Given the description of an element on the screen output the (x, y) to click on. 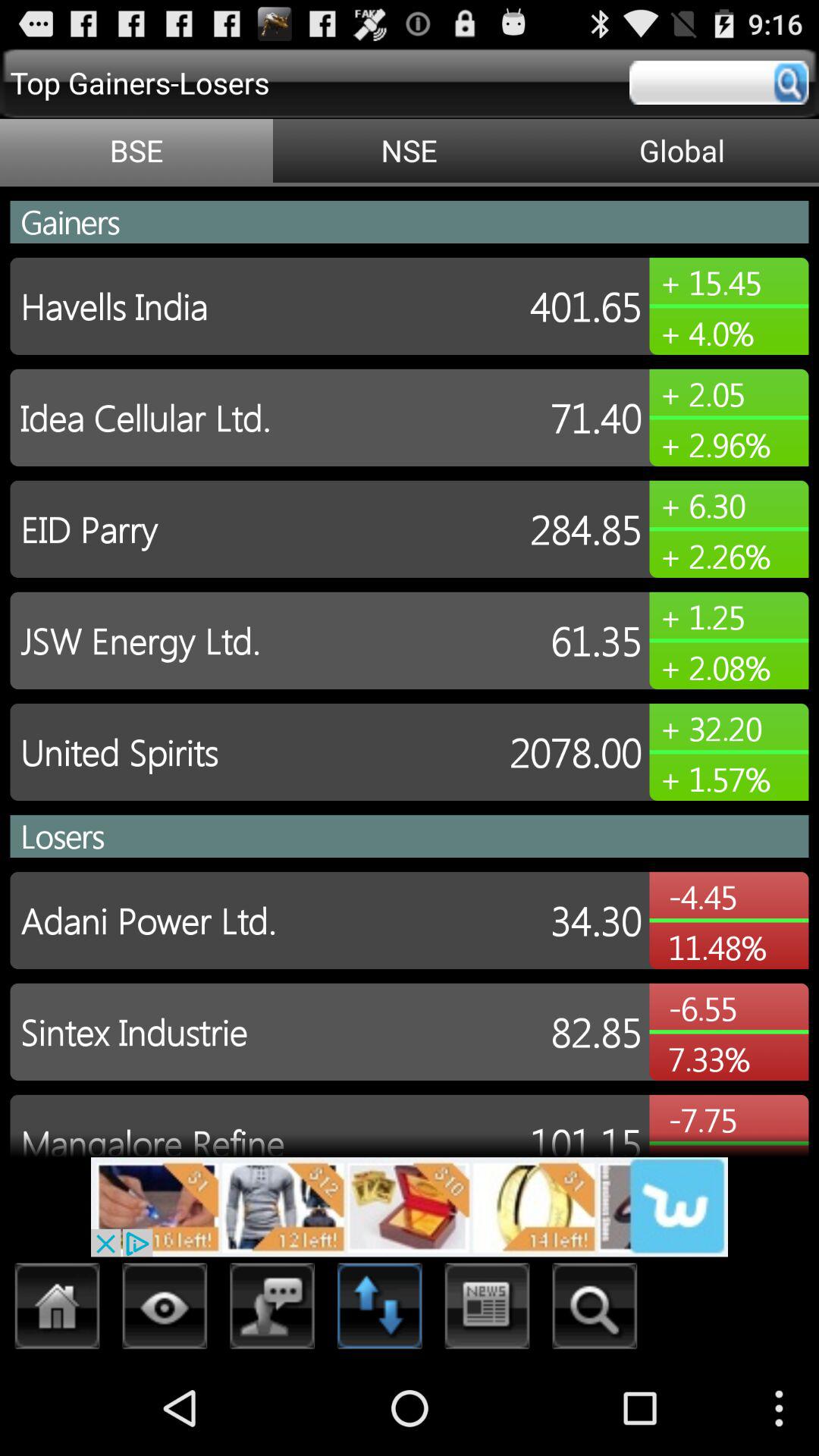
open conversation (272, 1310)
